Given the description of an element on the screen output the (x, y) to click on. 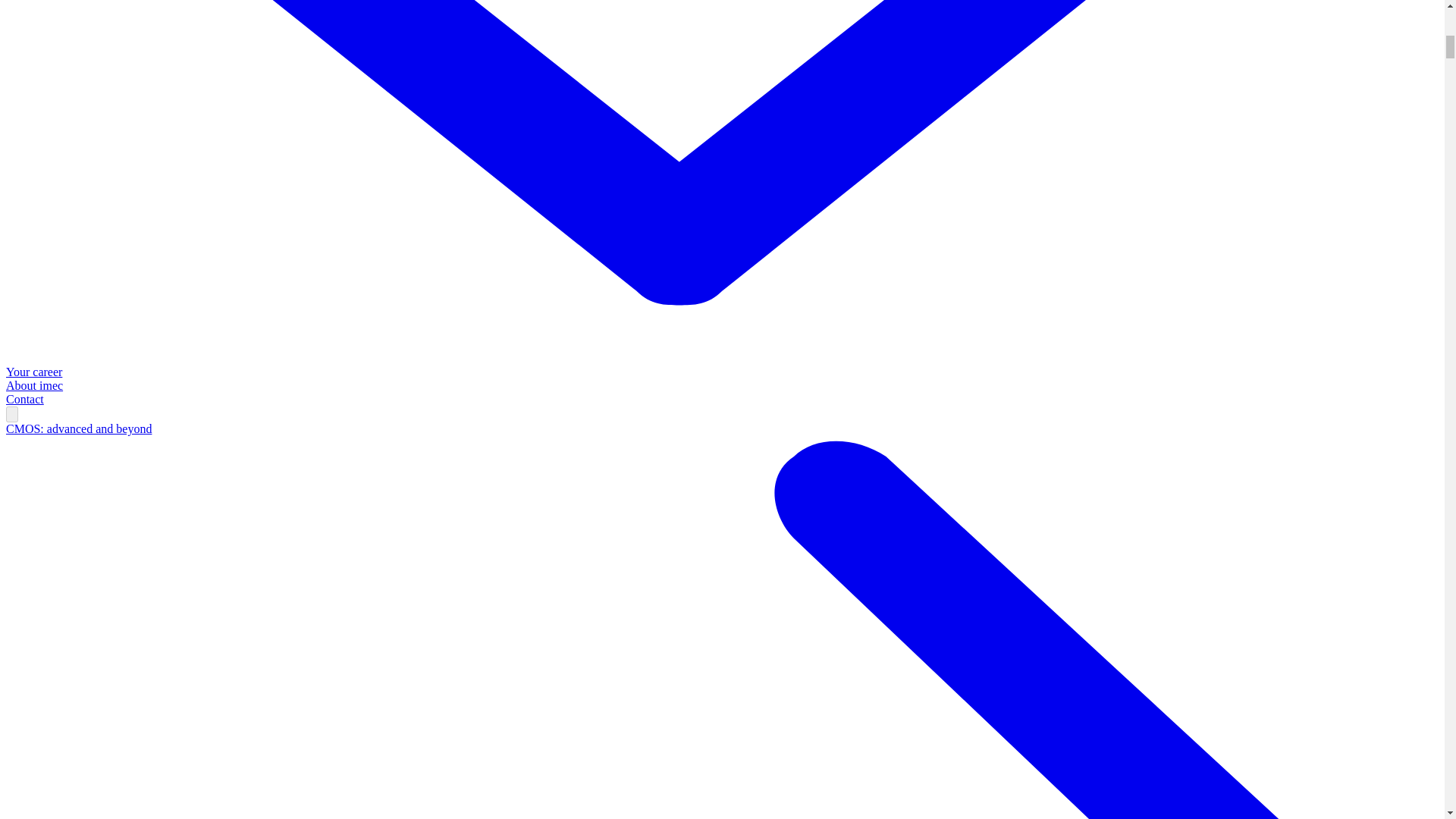
Your career (33, 371)
About imec (33, 385)
Contact (24, 399)
